Given the description of an element on the screen output the (x, y) to click on. 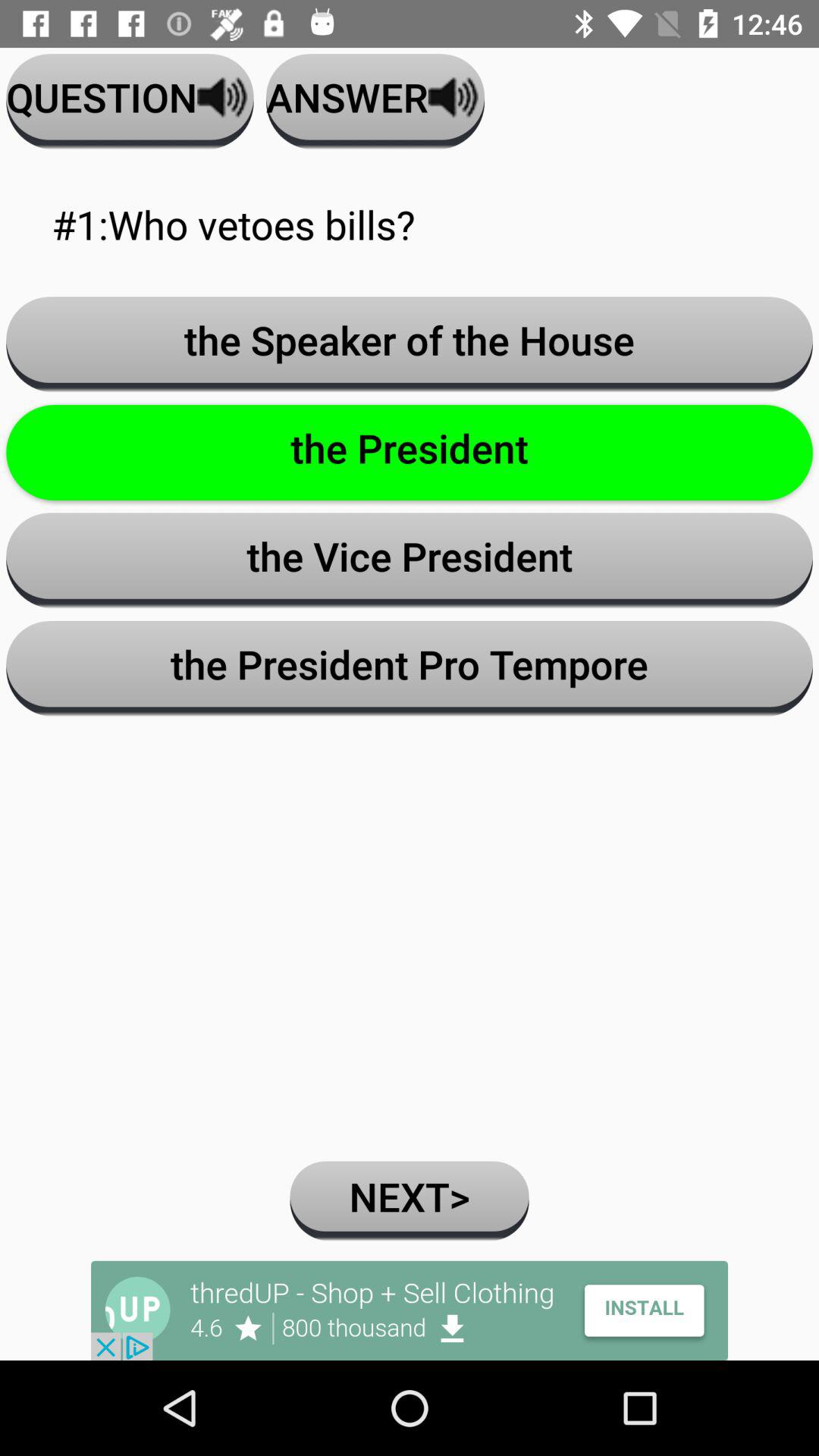
go to advertisement (409, 1310)
